Given the description of an element on the screen output the (x, y) to click on. 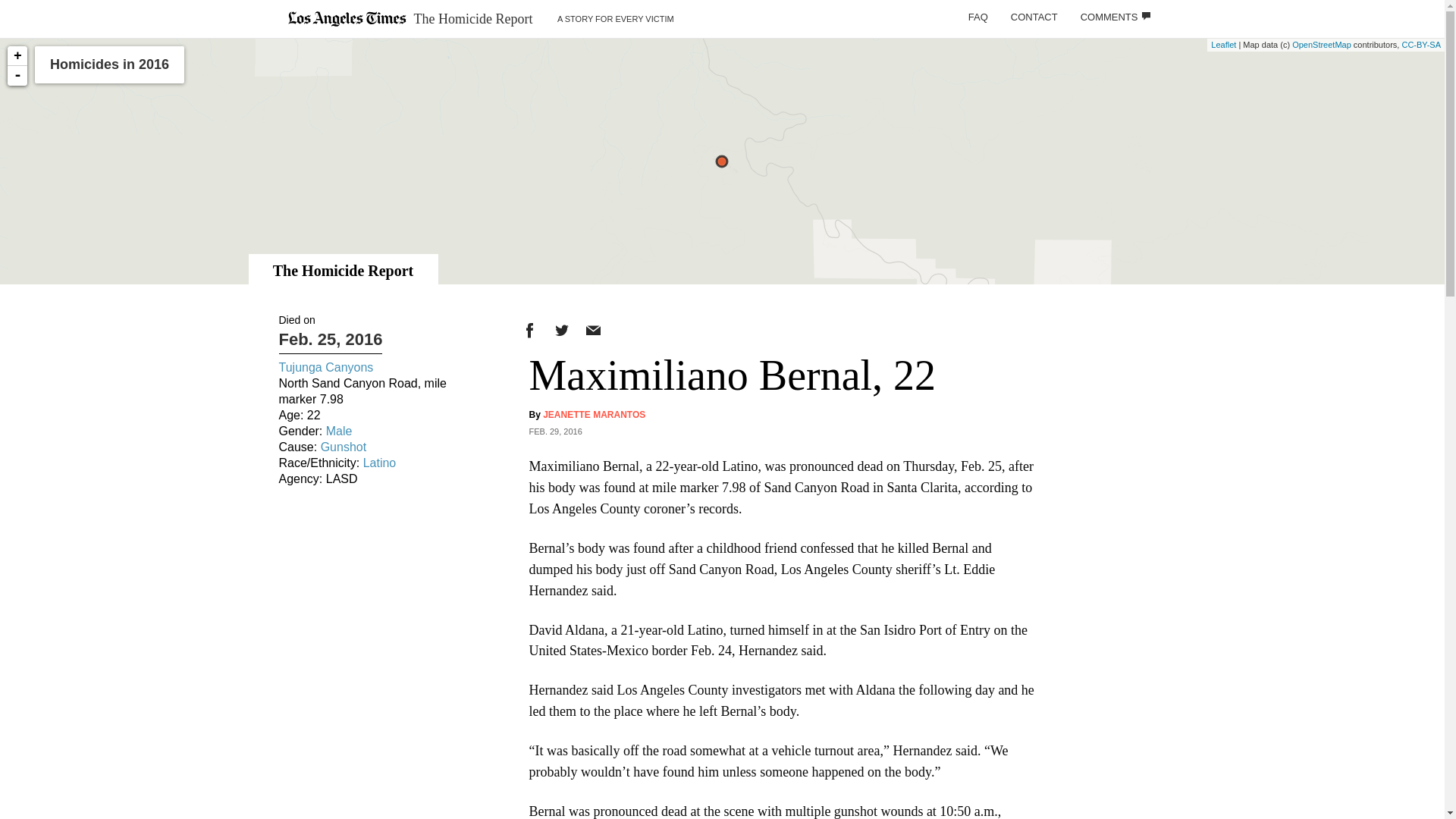
Latino (379, 462)
Gunshot (343, 446)
- (17, 75)
The Homicide Report (343, 270)
FAQ (977, 17)
Zoom out (17, 75)
Male (339, 431)
The Homicide Report (472, 18)
COMMENTS (1114, 17)
OpenStreetMap (1321, 44)
Leaflet (1223, 44)
A JS library for interactive maps (1223, 44)
CONTACT (1033, 17)
Zoom in (17, 55)
Tujunga Canyons (326, 367)
